Given the description of an element on the screen output the (x, y) to click on. 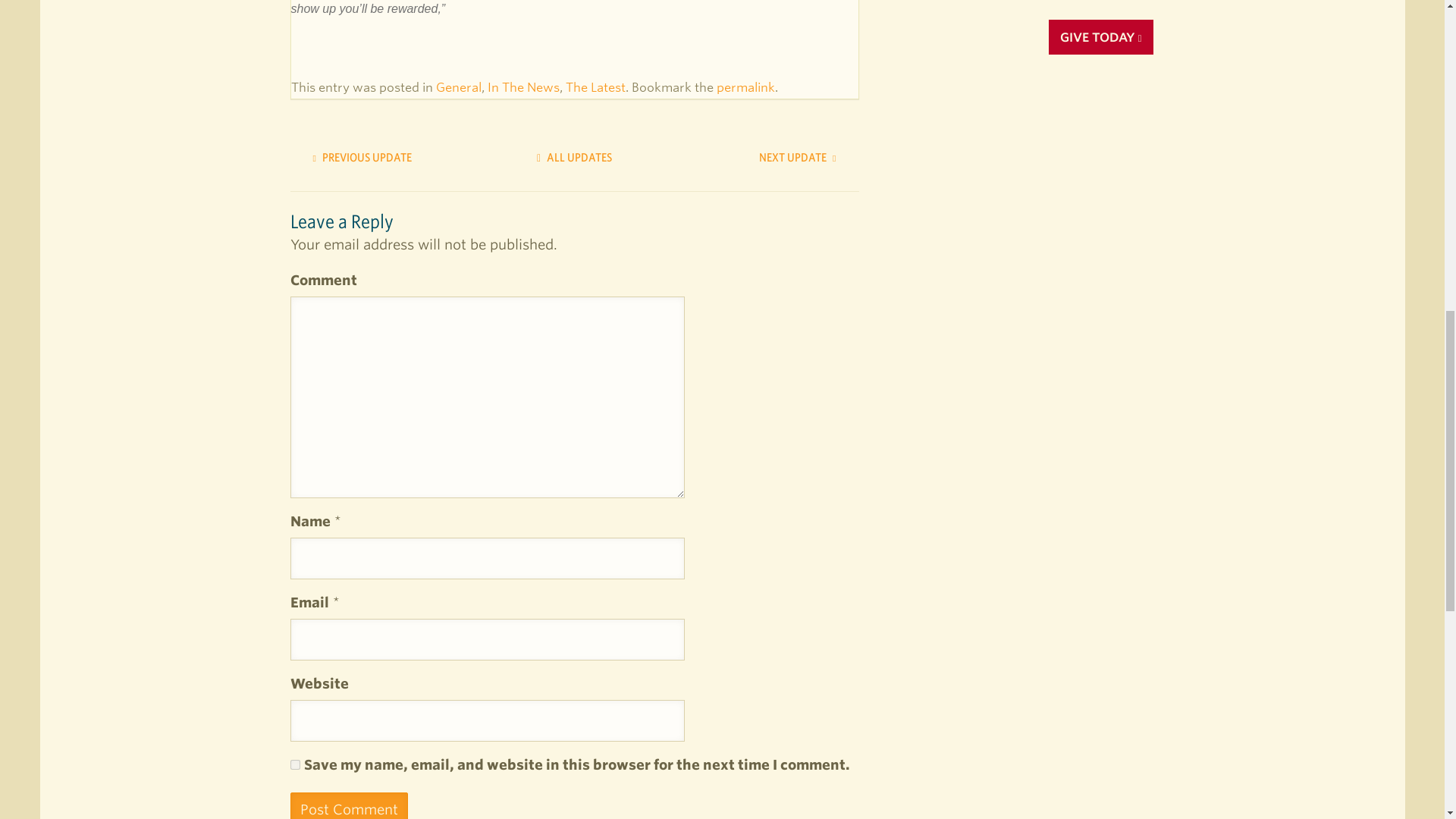
Permalink to Andre Ethier Visits URM Once Again (745, 87)
yes (294, 764)
Post Comment (348, 805)
